Given the description of an element on the screen output the (x, y) to click on. 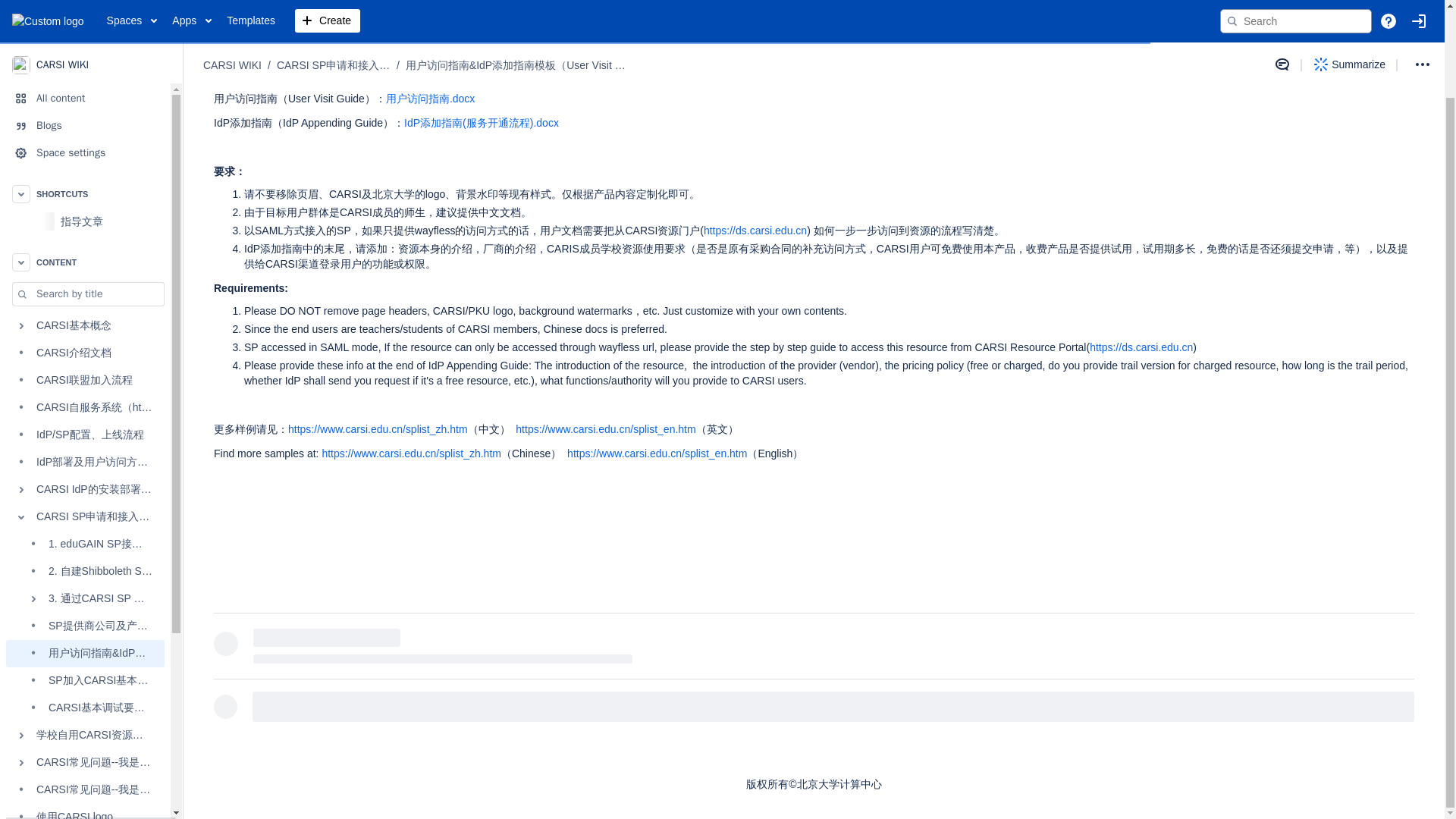
CONTENT (84, 162)
Space settings (84, 53)
SHORTCUTS (84, 94)
Blogs (84, 26)
All content (84, 6)
